Given the description of an element on the screen output the (x, y) to click on. 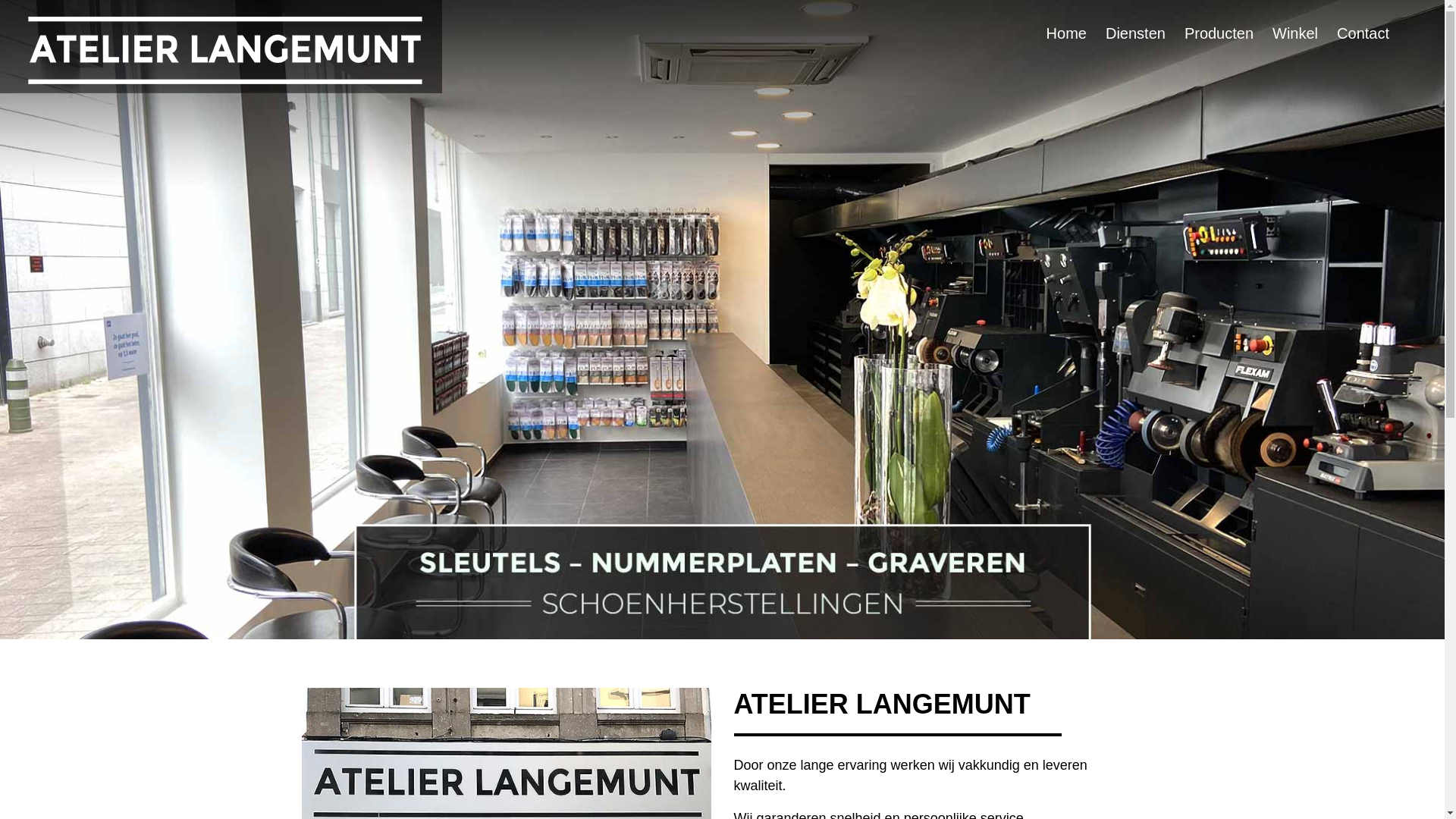
Diensten Element type: text (1144, 33)
Winkel Element type: text (1304, 33)
Producten Element type: text (1228, 33)
Contact Element type: text (1372, 33)
Home Element type: text (1075, 33)
